Given the description of an element on the screen output the (x, y) to click on. 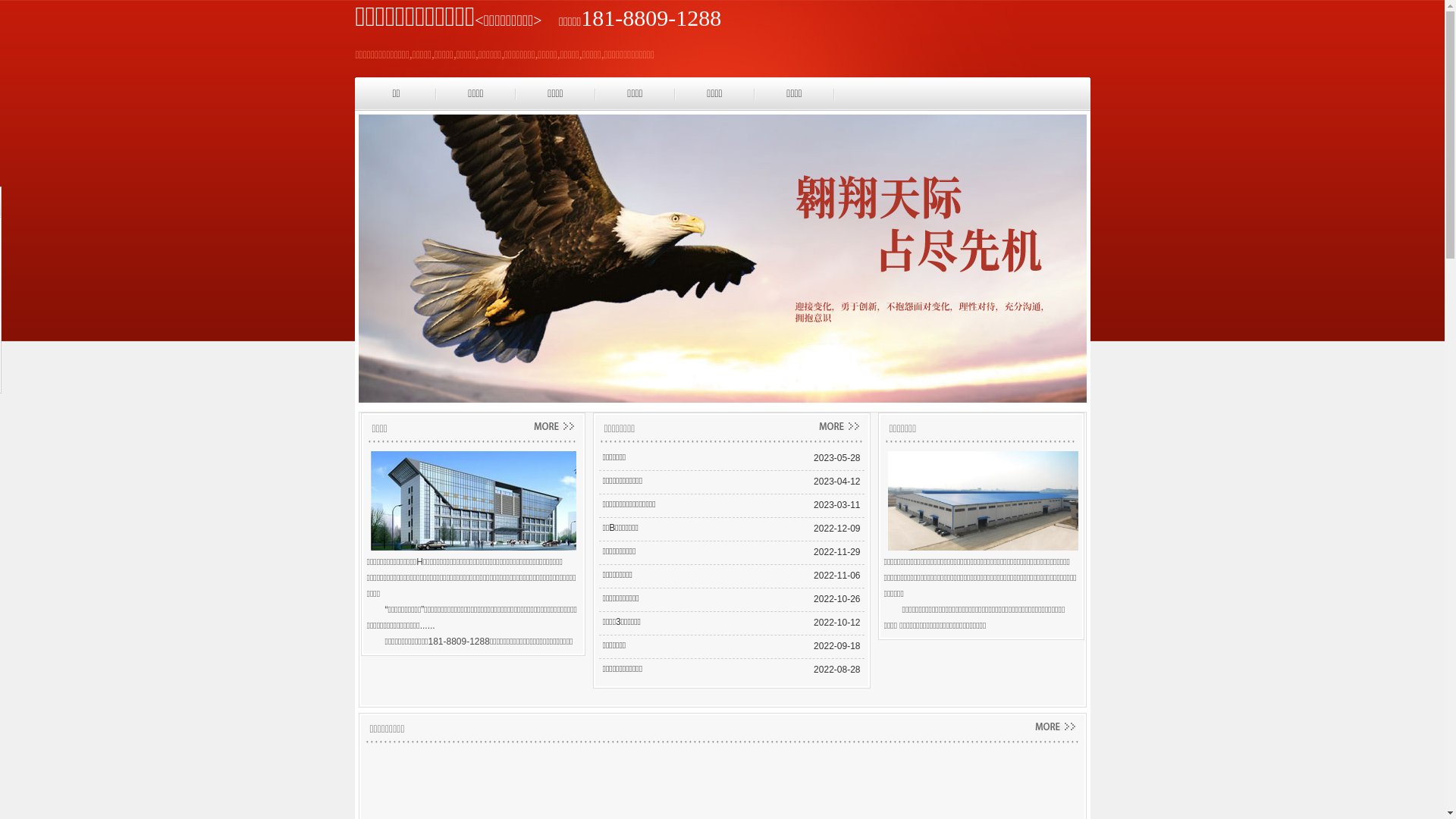
2022-12-09 Element type: text (836, 528)
2023-05-28 Element type: text (836, 458)
2023-04-12 Element type: text (836, 481)
2022-09-18 Element type: text (836, 646)
2022-10-26 Element type: text (836, 599)
2022-10-12 Element type: text (836, 622)
2022-08-28 Element type: text (836, 669)
2022-11-29 Element type: text (836, 552)
2023-03-11 Element type: text (836, 505)
2022-11-06 Element type: text (836, 575)
